Given the description of an element on the screen output the (x, y) to click on. 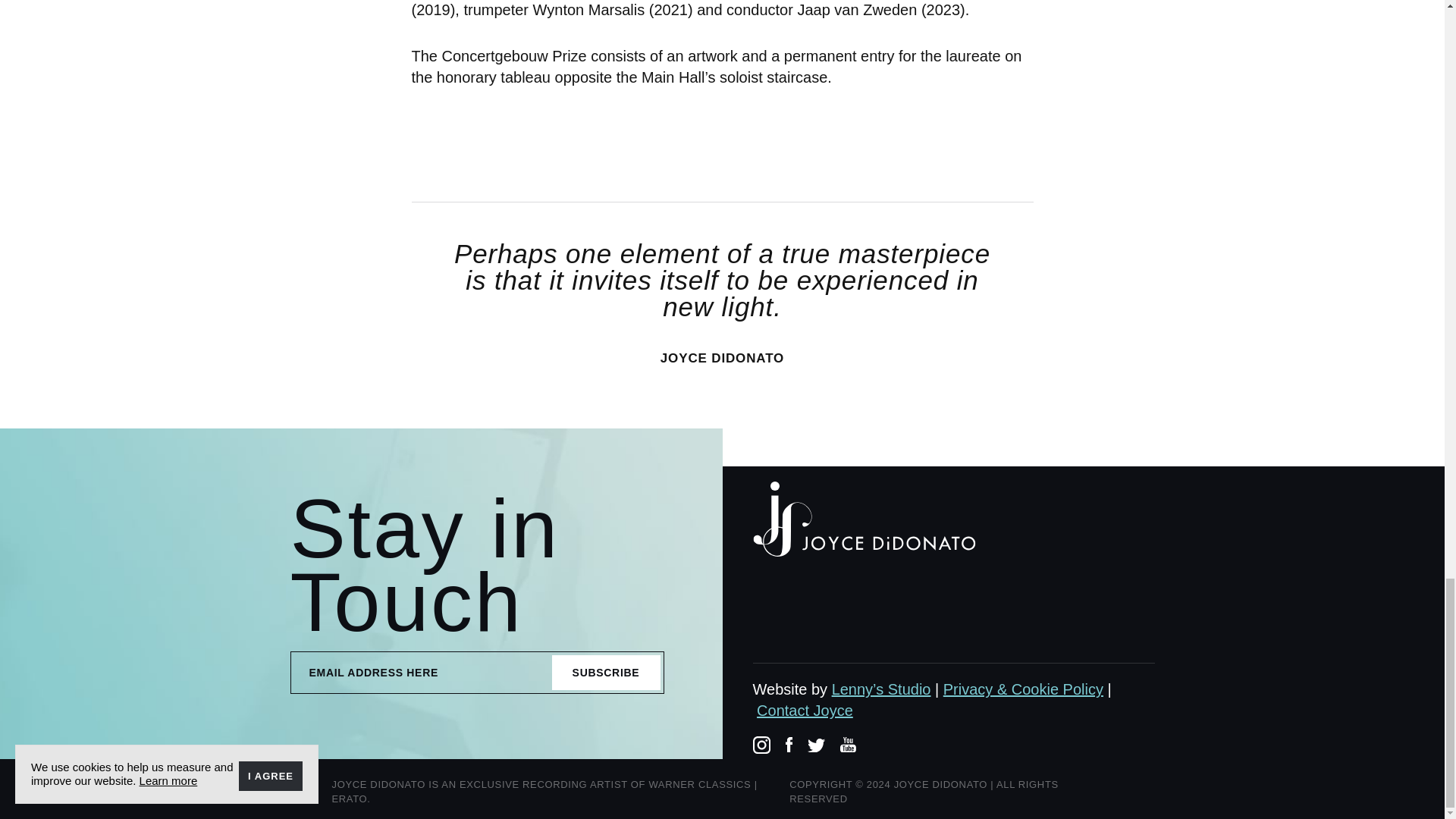
Watch on Youtube (848, 746)
SUBSCRIBE (606, 672)
Follow on Twitter (816, 746)
Contact Joyce (805, 710)
Follow on Instagram (761, 748)
Like on Facebook (789, 746)
